Given the description of an element on the screen output the (x, y) to click on. 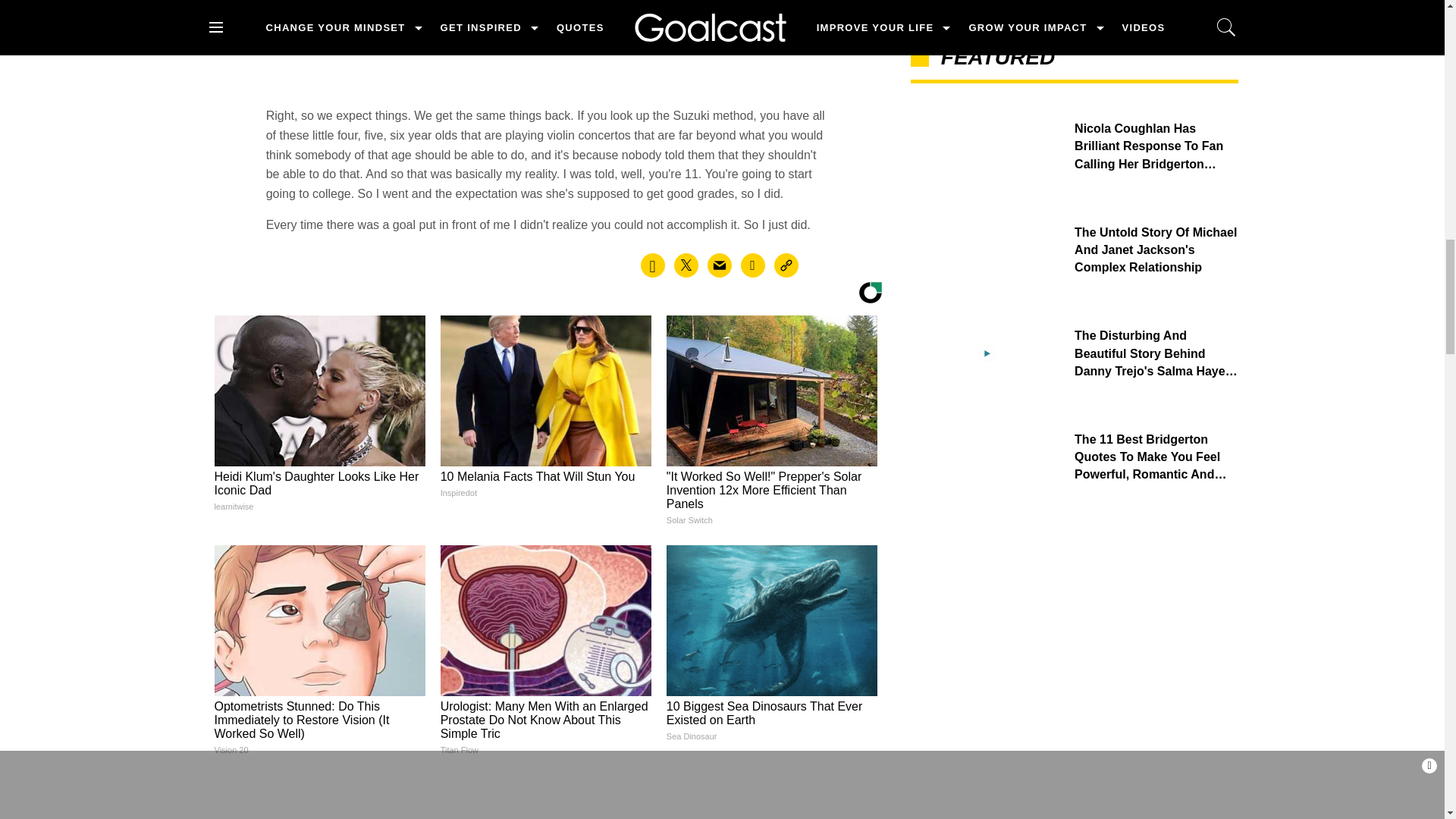
Copy this link to clipboard (785, 265)
